Given the description of an element on the screen output the (x, y) to click on. 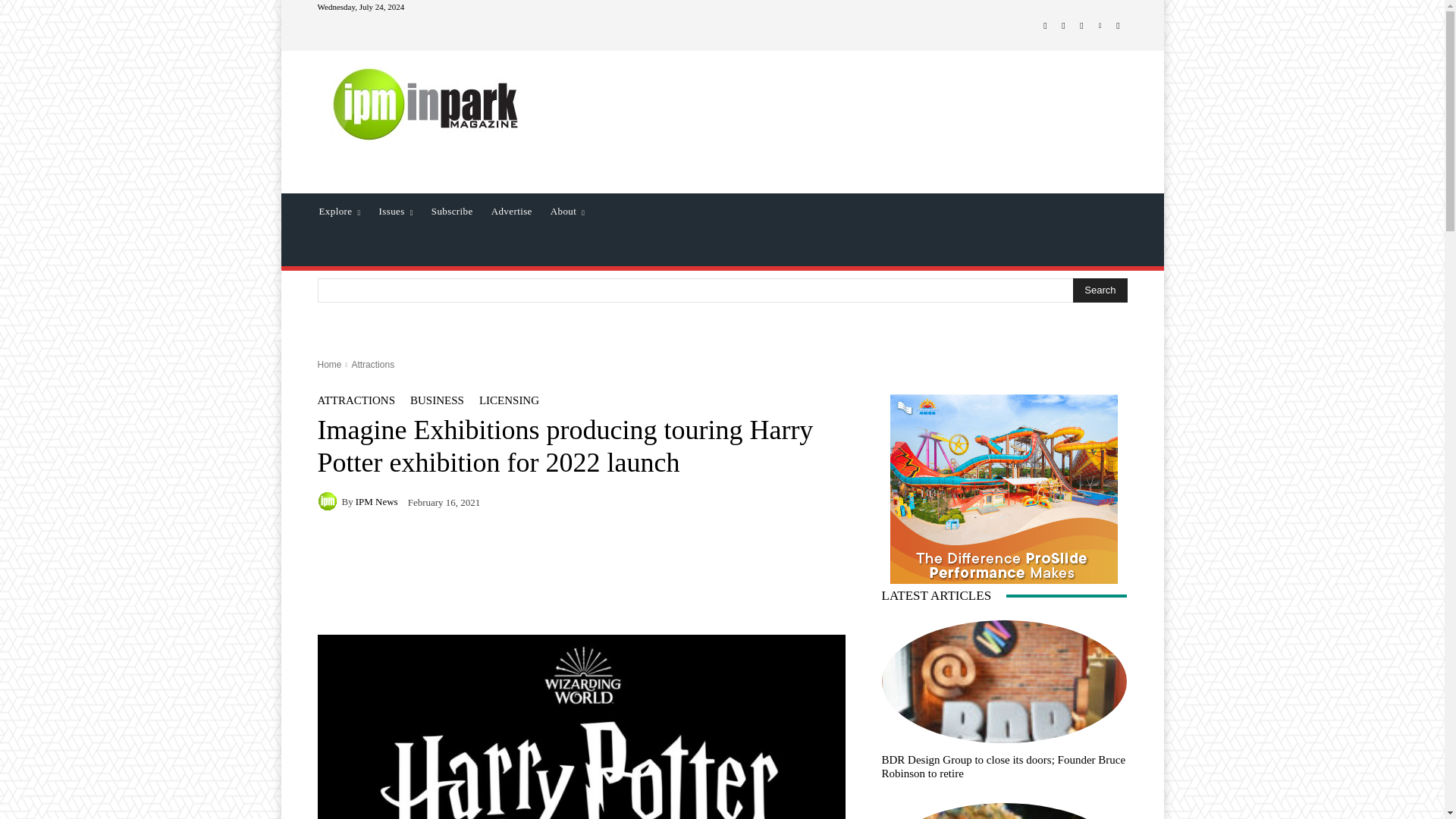
Instagram (1062, 25)
Youtube (1117, 25)
Facebook (1044, 25)
Vimeo (1099, 25)
Twitter (1080, 25)
View all posts in Attractions (372, 364)
IPM News (328, 501)
